Given the description of an element on the screen output the (x, y) to click on. 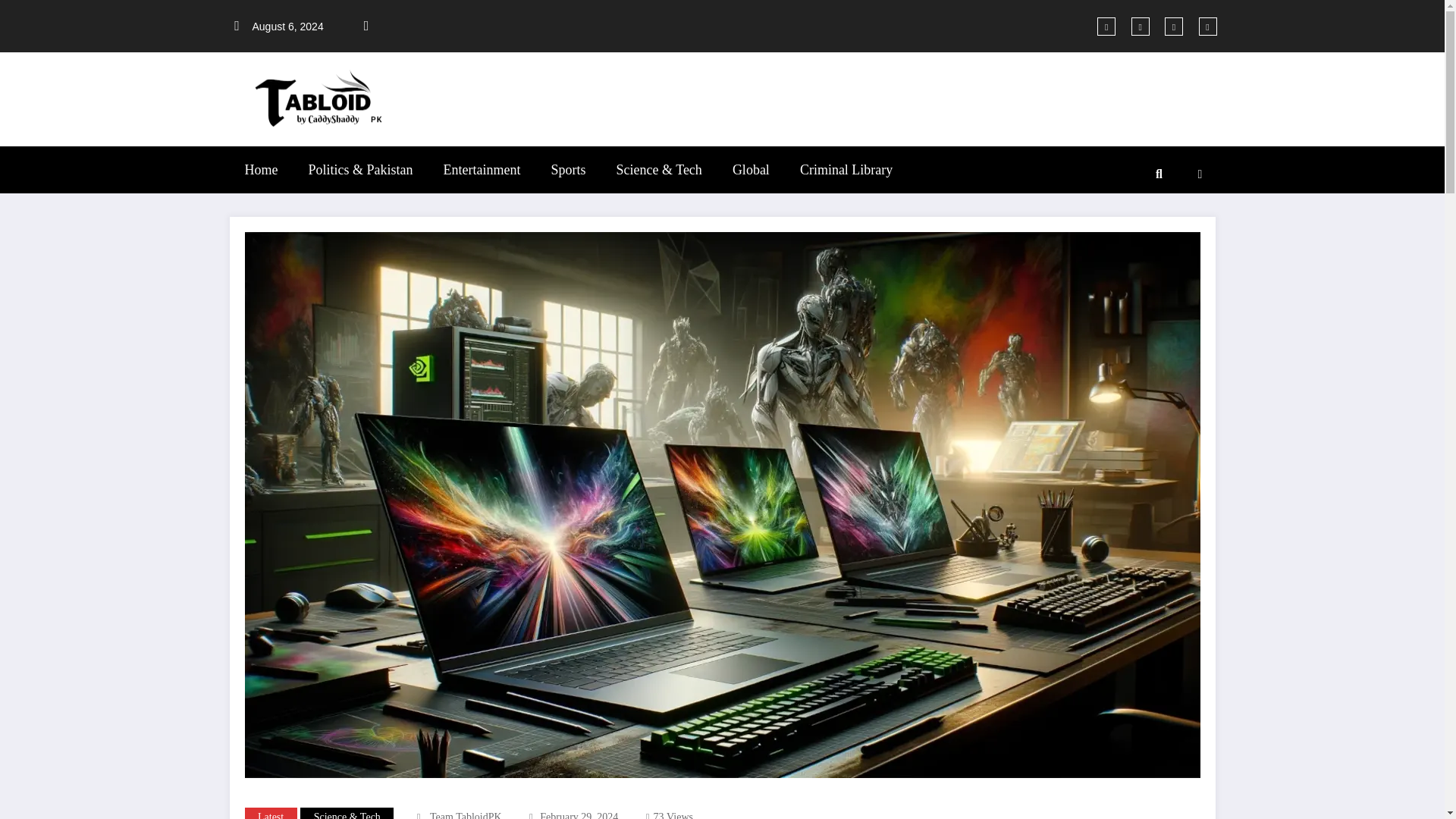
instagram (1206, 26)
Posts by Team TabloidPK (465, 815)
Latest (270, 813)
February 29, 2024 (578, 815)
twitter (1140, 26)
Criminal Library (845, 169)
Home (260, 169)
linkedin-in (1173, 26)
facebook-f (1106, 26)
Latest (270, 813)
Entertainment (481, 169)
Sports (567, 169)
Team TabloidPK (465, 815)
Search (1157, 173)
Global (750, 169)
